Given the description of an element on the screen output the (x, y) to click on. 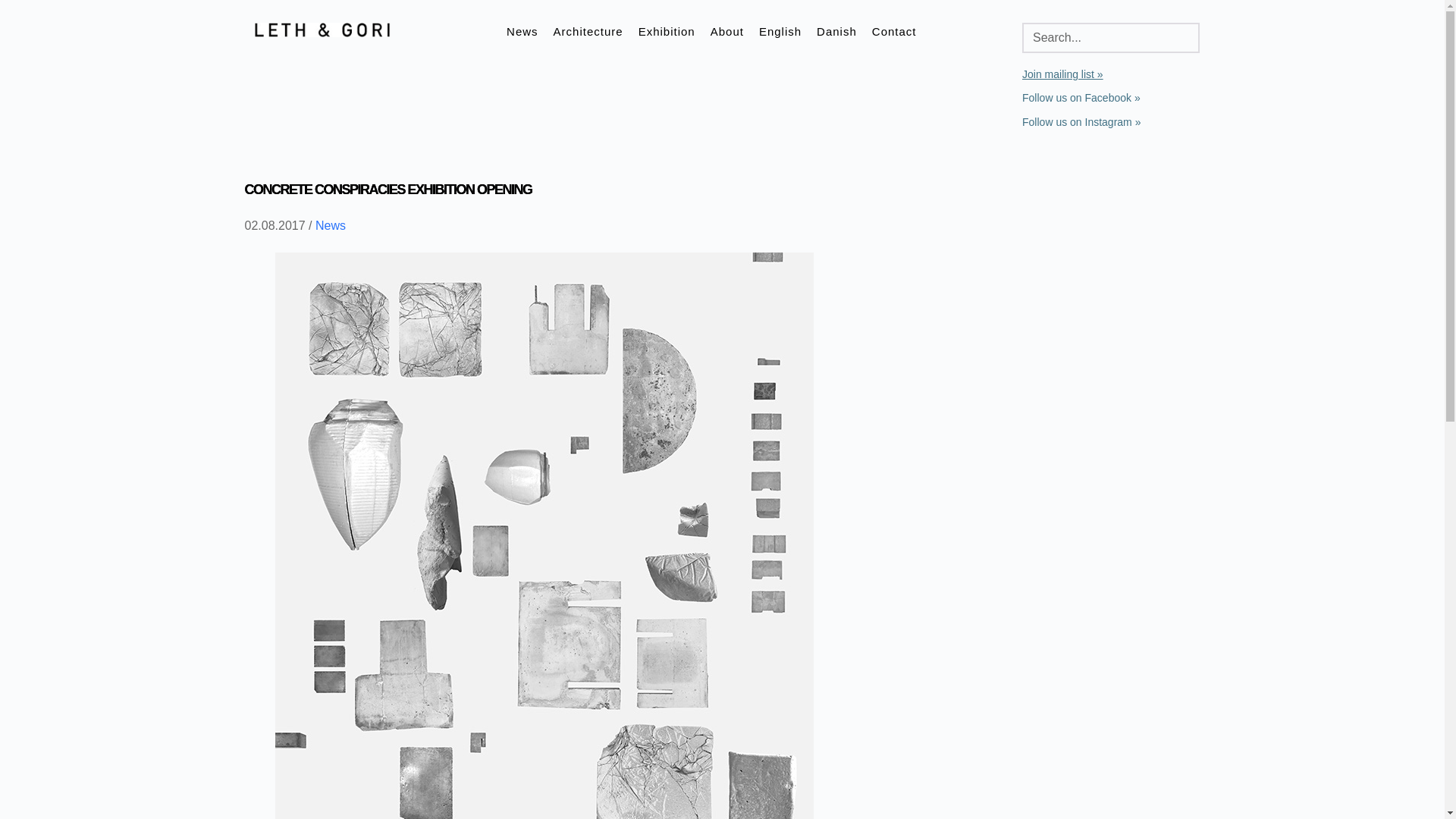
News (330, 225)
English (780, 31)
About (727, 31)
Exhibition (666, 31)
Architecture (588, 31)
Contact (893, 31)
News (521, 31)
Danish (836, 31)
